Given the description of an element on the screen output the (x, y) to click on. 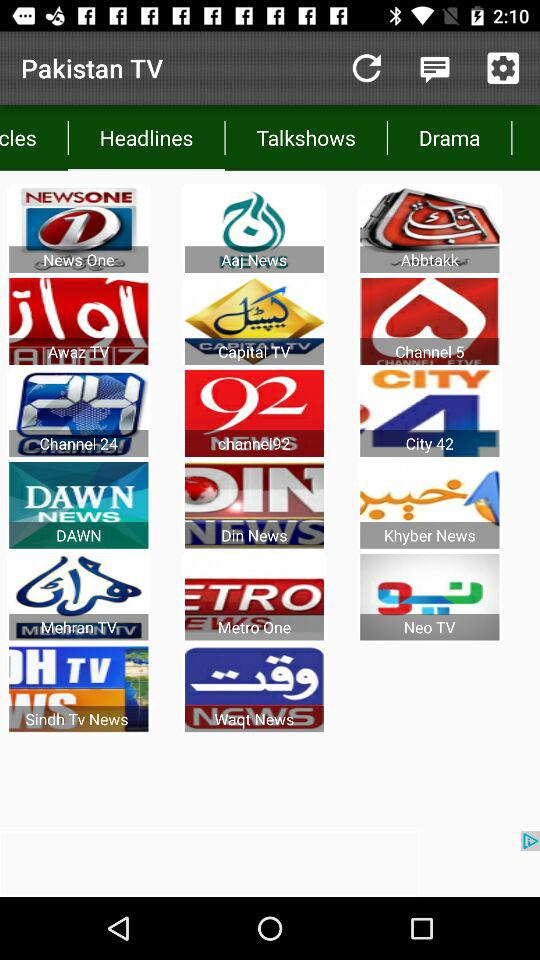
quote (434, 67)
